Given the description of an element on the screen output the (x, y) to click on. 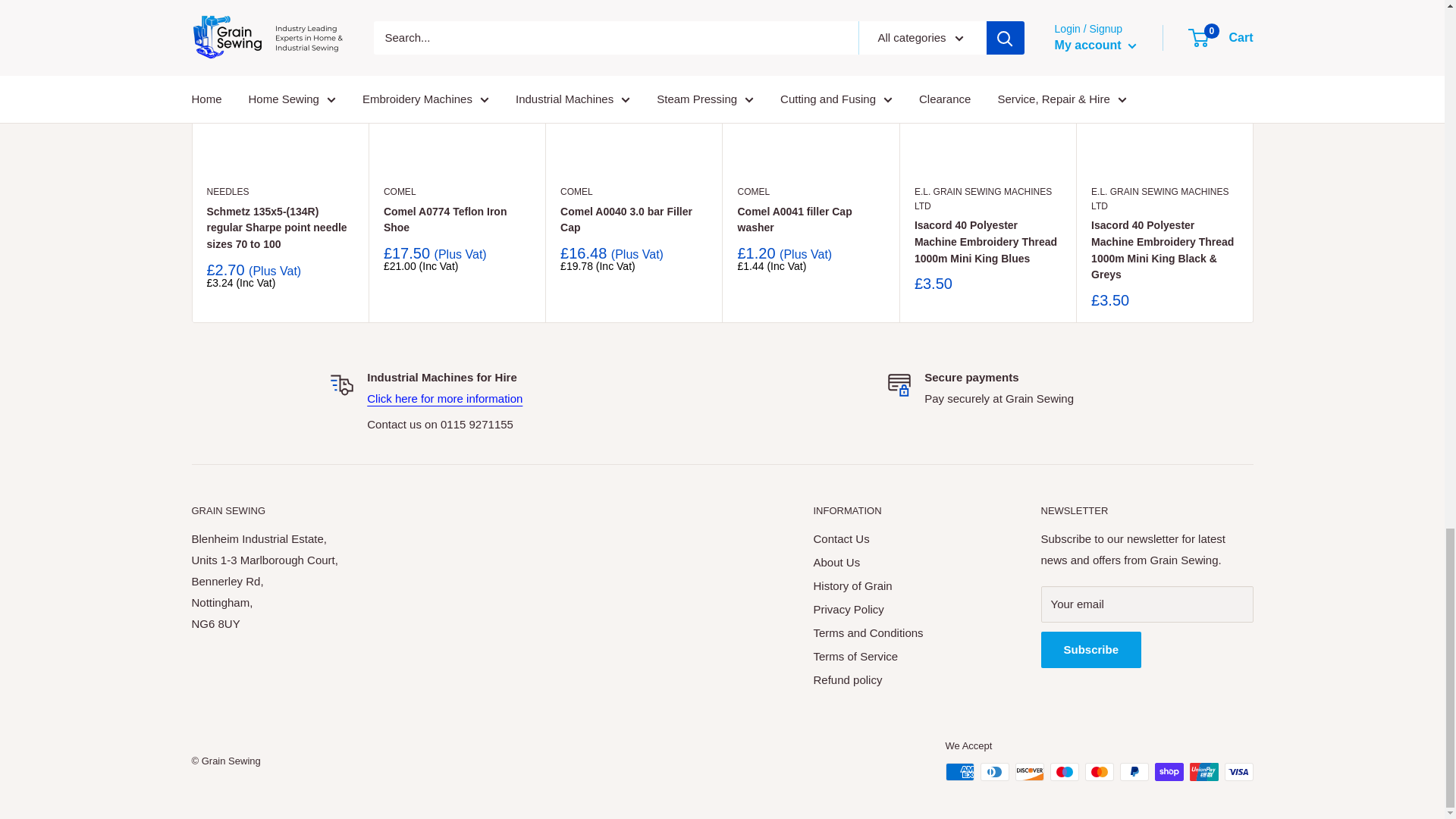
Industrial Hire Machines (444, 398)
